Given the description of an element on the screen output the (x, y) to click on. 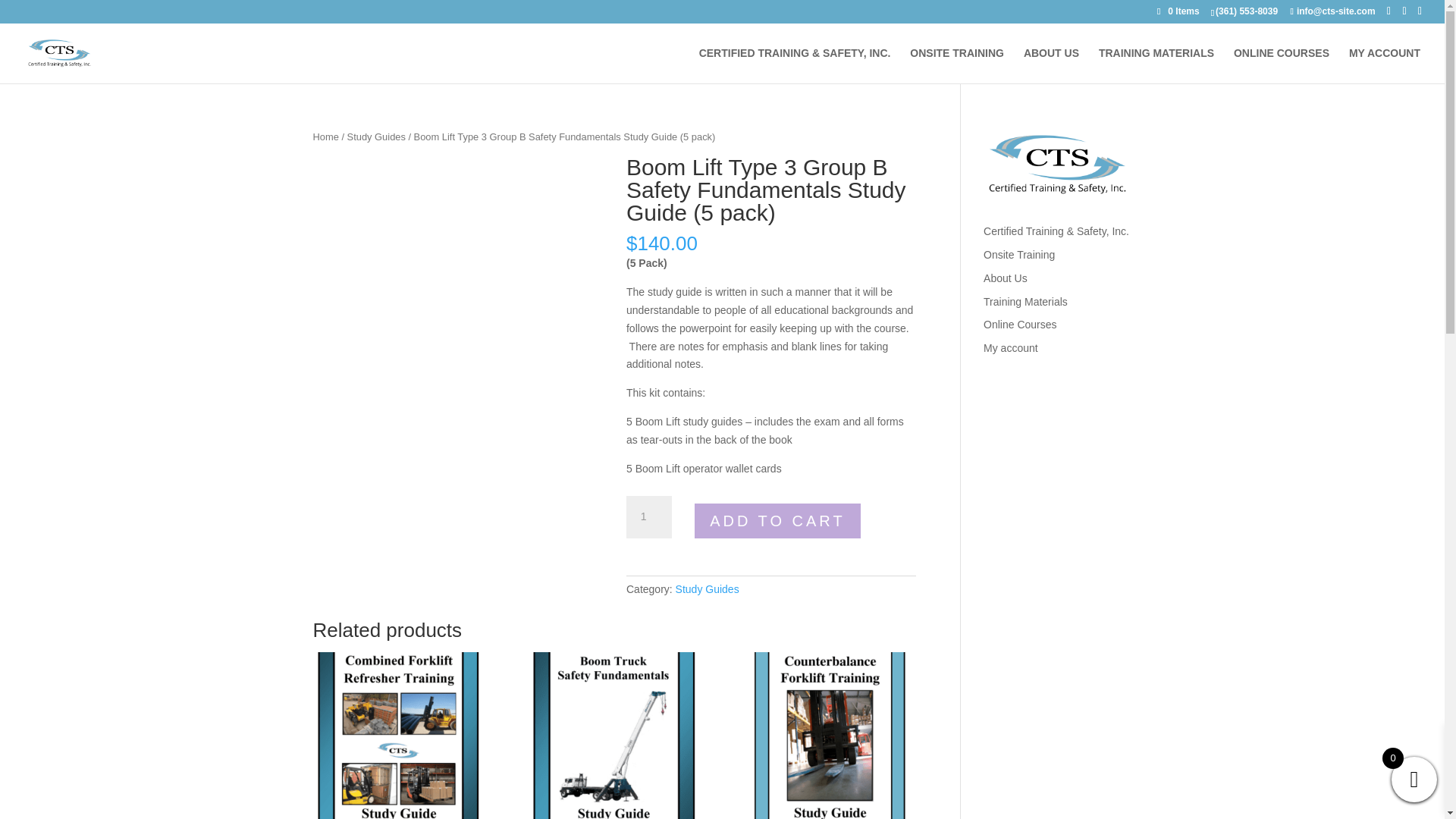
Home (325, 136)
Online Courses (1020, 324)
My account (1011, 347)
Training Materials (1025, 301)
Study Guides (707, 589)
Study Guides (376, 136)
About Us (1005, 277)
1 (648, 517)
Onsite Training (1019, 254)
MY ACCOUNT (1385, 65)
